Given the description of an element on the screen output the (x, y) to click on. 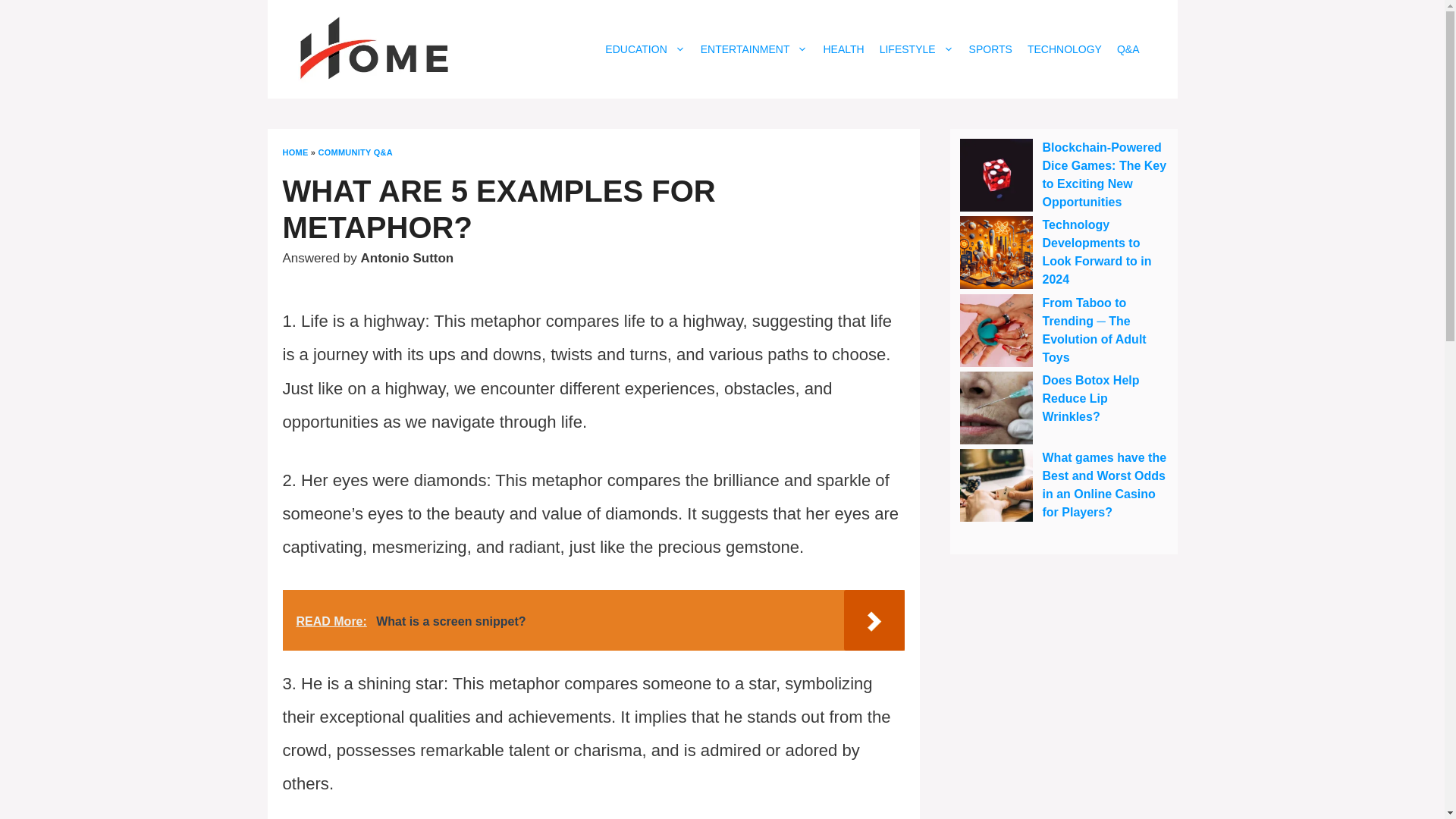
LIFESTYLE (916, 48)
TECHNOLOGY (1064, 48)
Technology Developments to Look Forward to in 2024 2 (995, 252)
EDUCATION (644, 48)
ENTERTAINMENT (754, 48)
Does Botox Help Reduce Lip Wrinkles? 4 (995, 407)
HEALTH (842, 48)
SPORTS (990, 48)
